Given the description of an element on the screen output the (x, y) to click on. 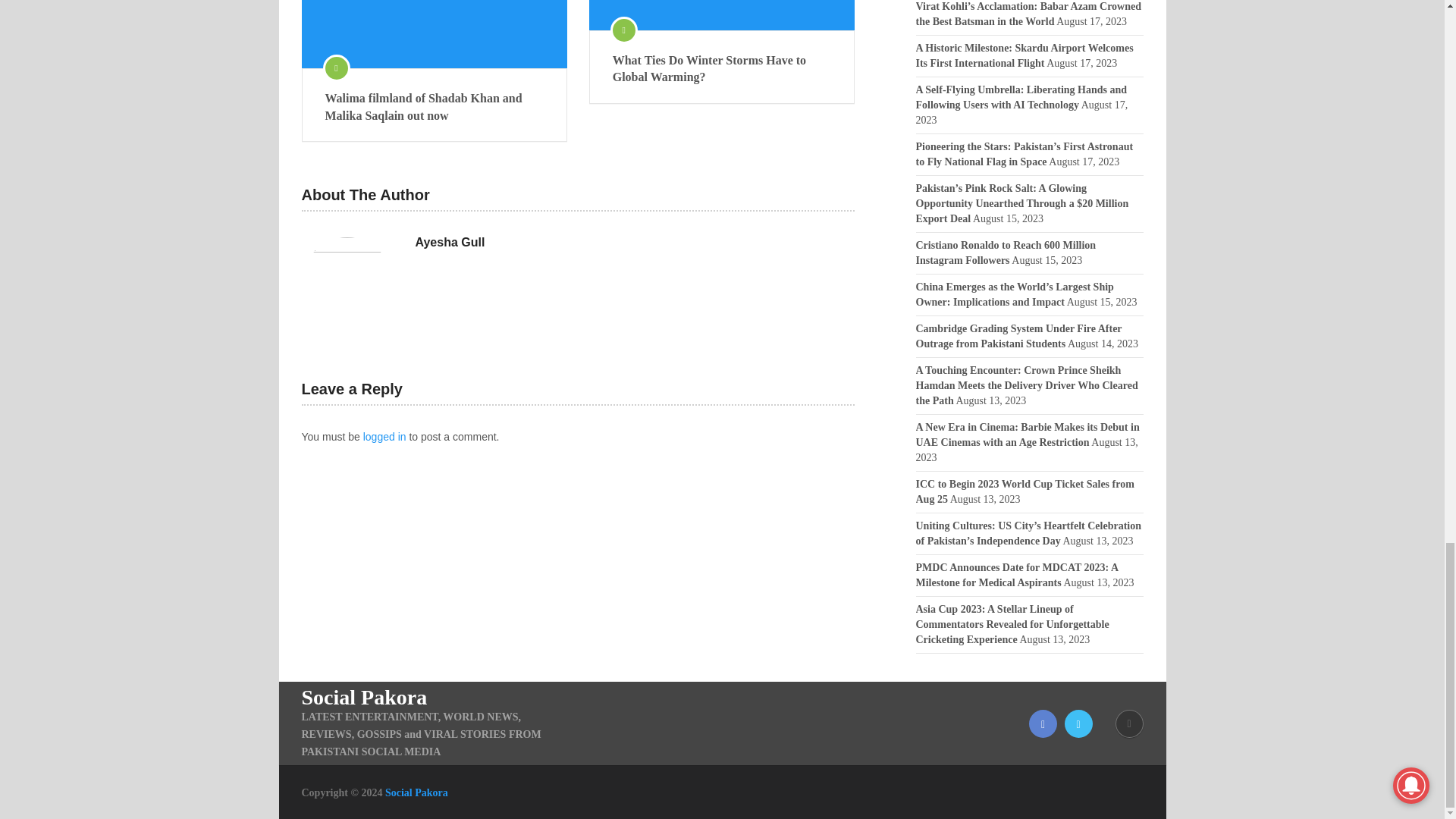
Walima filmland of Shadab Khan and Malika Saqlain out now (433, 107)
What Ties Do Winter Storms Have to Global Warming? (721, 69)
Walima filmland of Shadab Khan and Malika Saqlain out now (433, 107)
What Ties Do Winter Storms Have to Global Warming? (721, 15)
Ayesha Gull (449, 242)
Walima filmland of Shadab Khan and Malika Saqlain out now (434, 33)
logged in (384, 436)
What Ties Do Winter Storms Have to Global Warming? (721, 69)
